Given the description of an element on the screen output the (x, y) to click on. 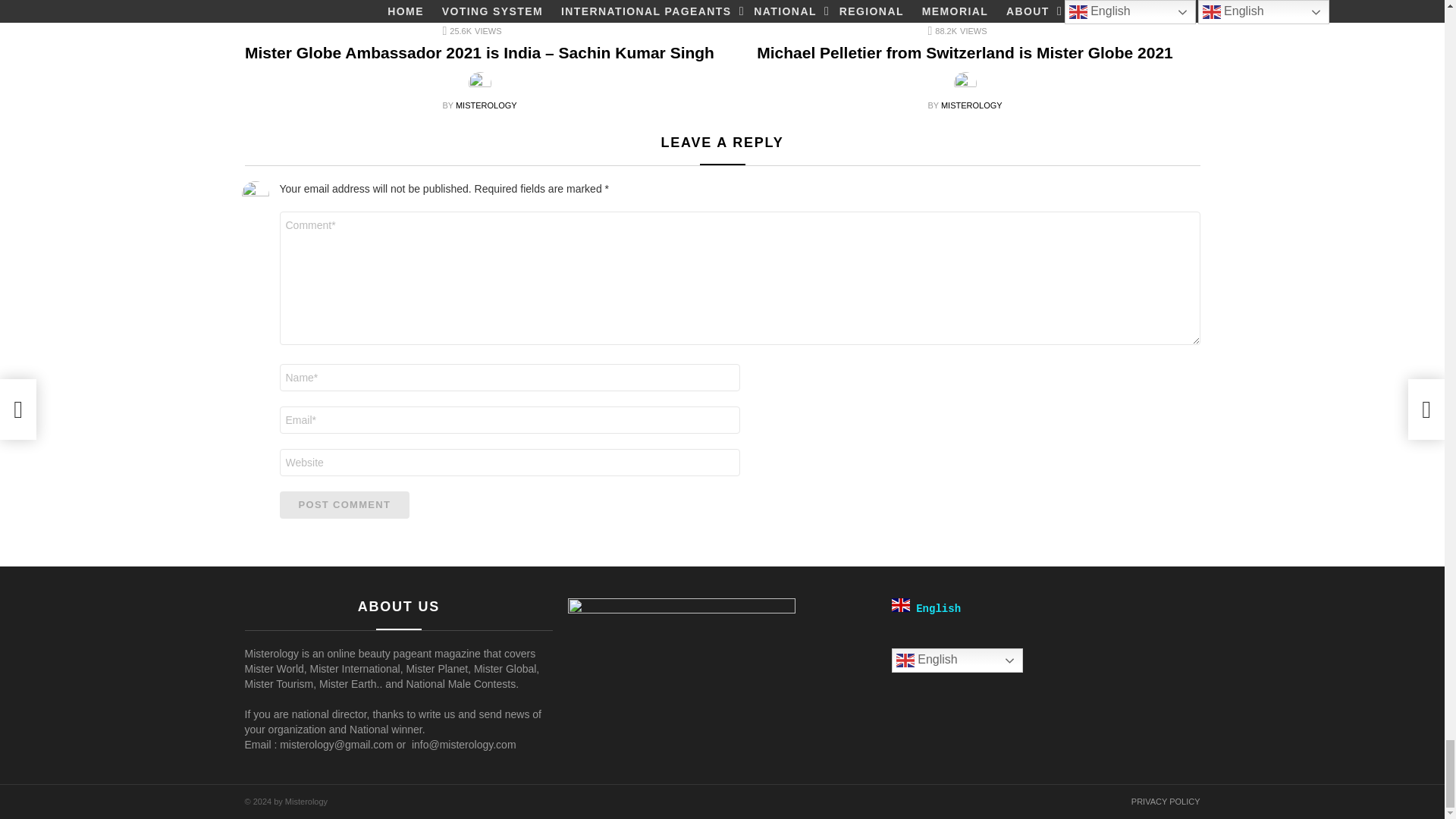
Post Comment (344, 504)
